Given the description of an element on the screen output the (x, y) to click on. 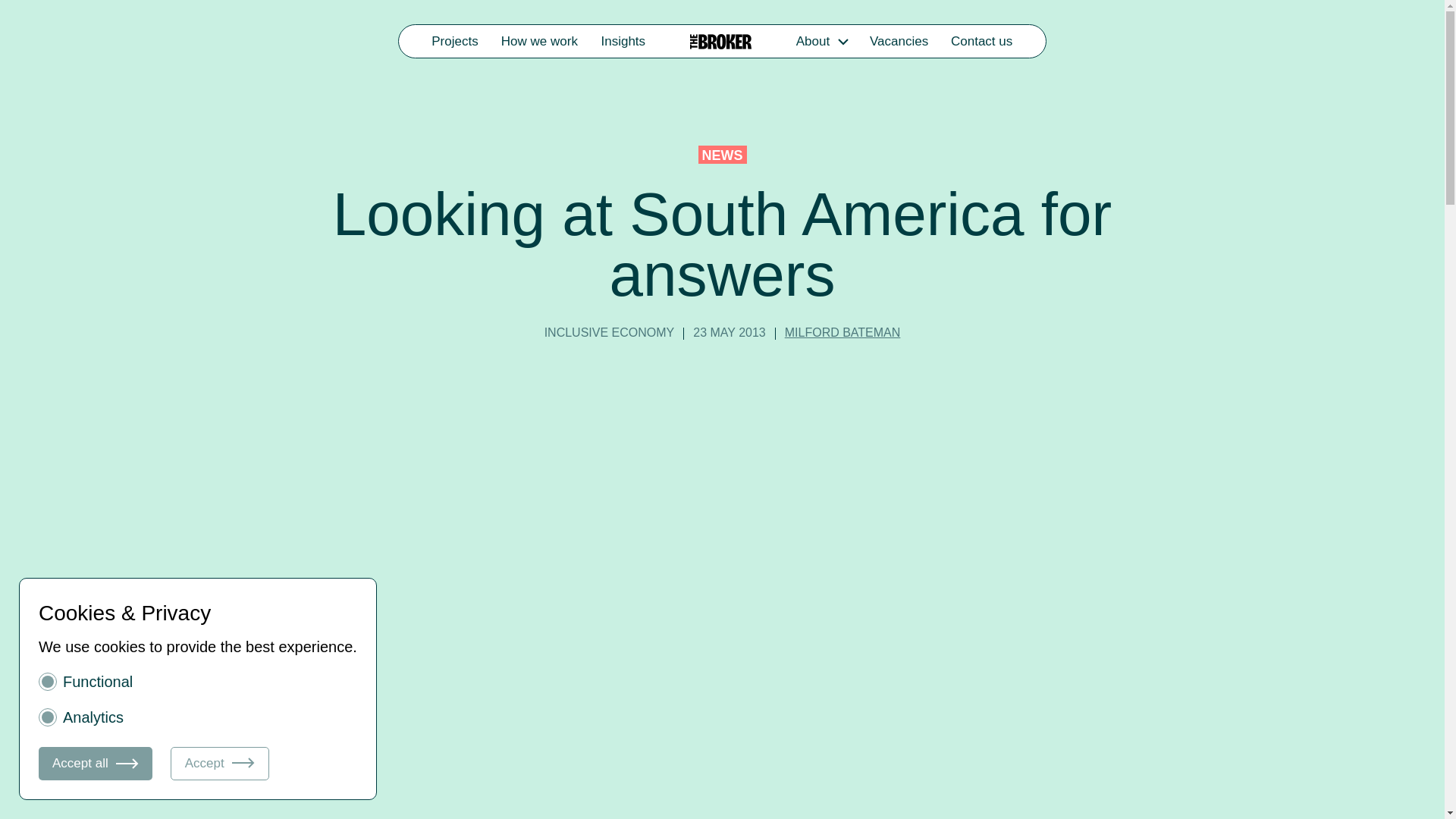
Contact us (981, 41)
Insights (622, 41)
How we work (539, 41)
Accept (219, 763)
Accept all (95, 763)
Projects (454, 41)
Vacancies (898, 41)
About (812, 41)
